Given the description of an element on the screen output the (x, y) to click on. 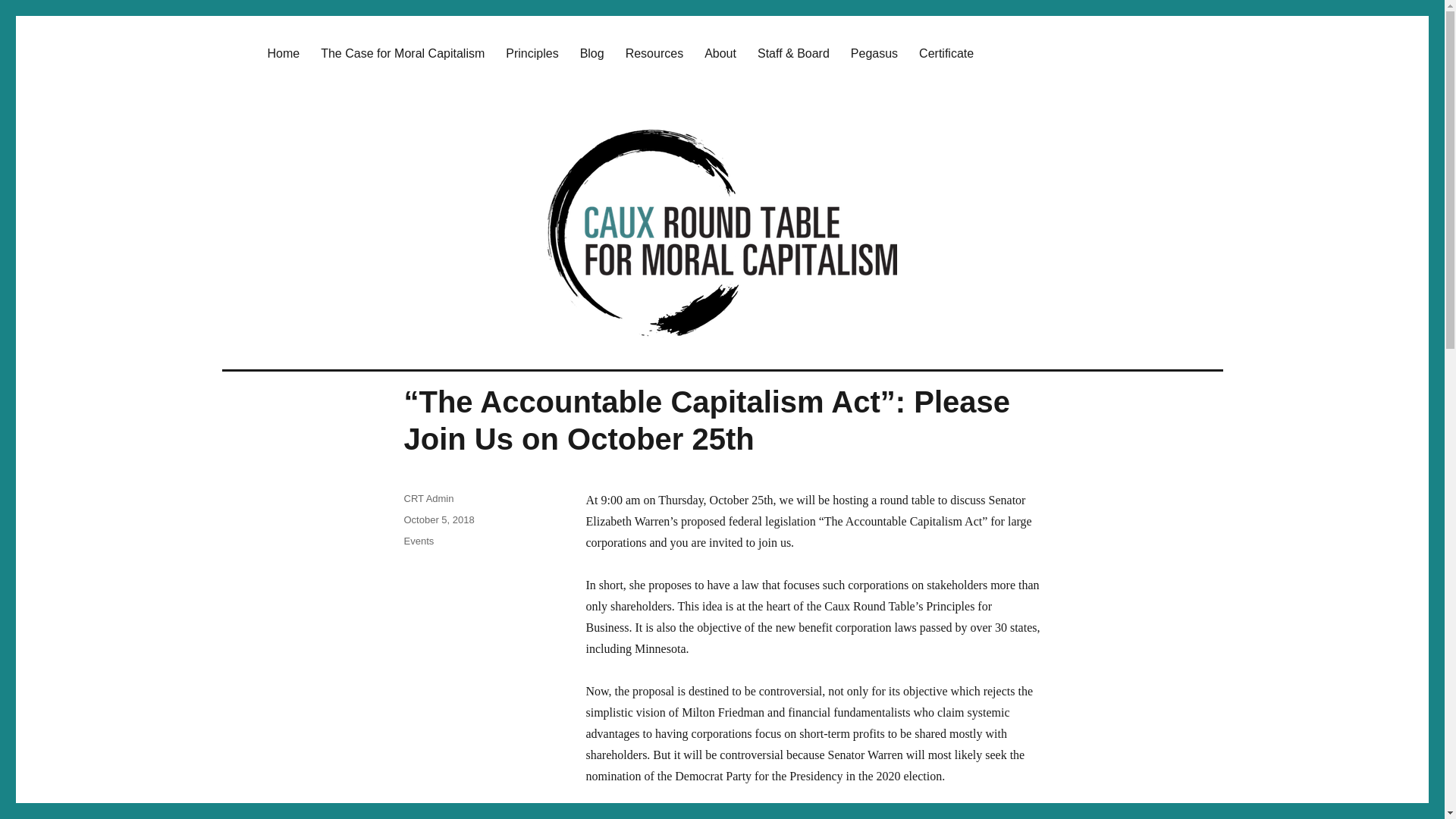
Pegasus (874, 52)
Home (283, 52)
Resources (654, 52)
Certificate (946, 52)
Caux Round Table for Moral Capitalism (464, 28)
CRT Admin (427, 498)
Blog (591, 52)
Events (418, 541)
The Case for Moral Capitalism (402, 52)
About (720, 52)
Principles (532, 52)
October 5, 2018 (438, 519)
